Given the description of an element on the screen output the (x, y) to click on. 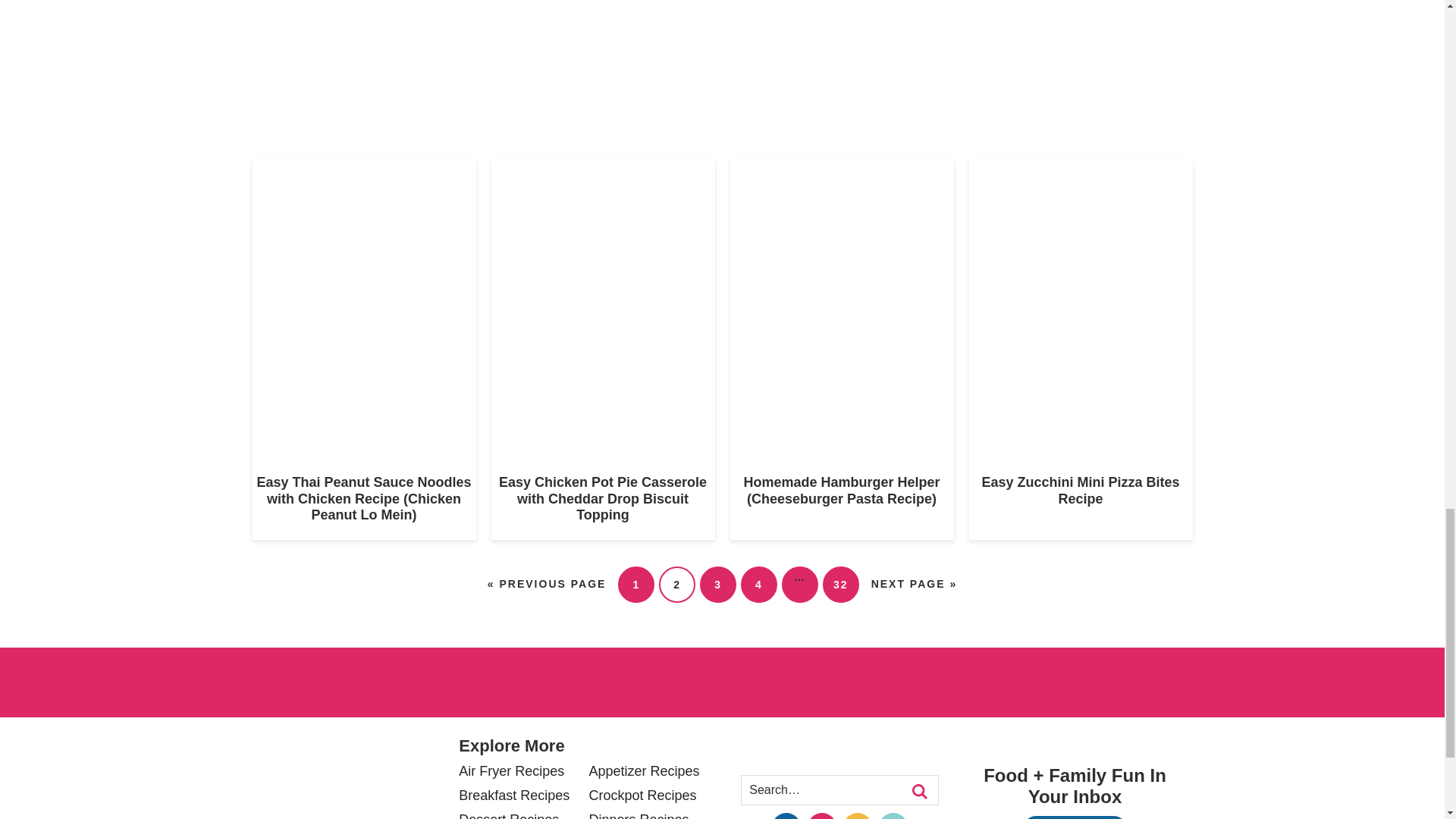
Search for (839, 789)
